Given the description of an element on the screen output the (x, y) to click on. 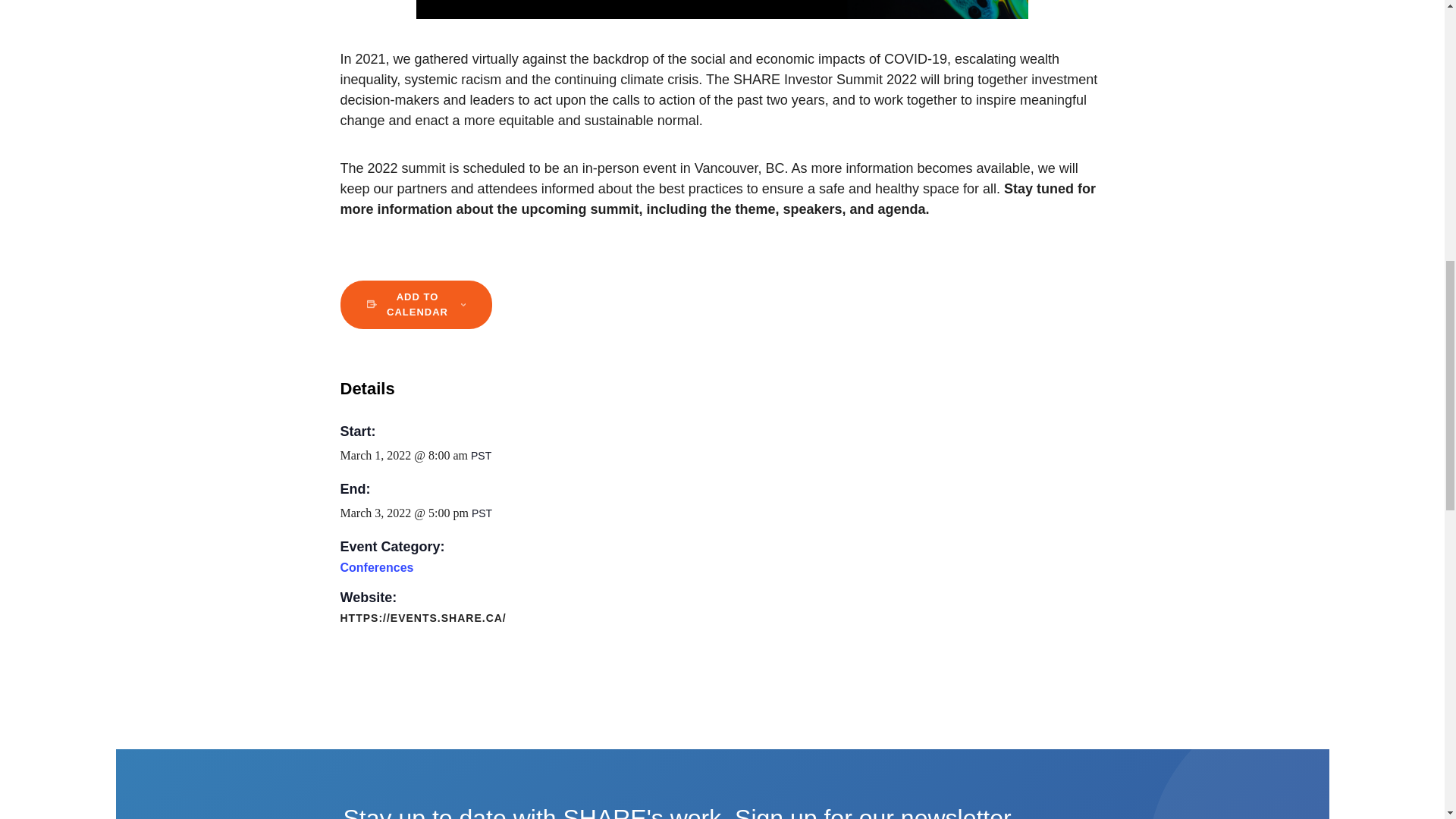
2022-03-01 (404, 454)
2022-03-03 (404, 512)
ADD TO CALENDAR (416, 304)
